Given the description of an element on the screen output the (x, y) to click on. 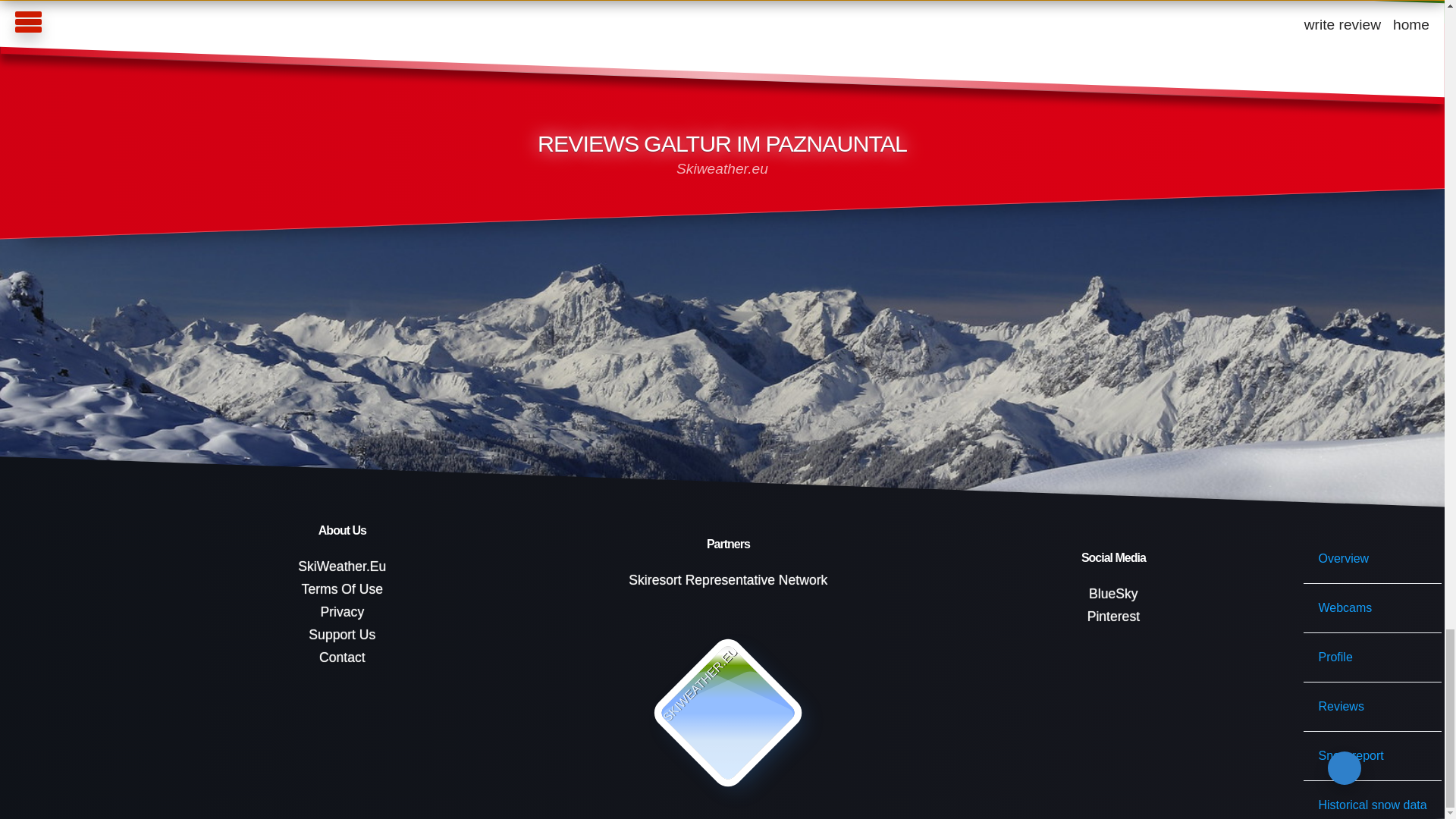
reviews Gargellen (486, 87)
reviews Scuol (176, 87)
About SkiWeather.eu (341, 566)
Terms of use SkiWeather.eu (341, 589)
reviews Kappl im Paznauntal (324, 87)
Snow alerts and ski reports via BlueSky (1113, 593)
Buy us a coffee! (341, 635)
Privacy statement of SkiWeather.eu (341, 612)
Skiresort Representative Network snowreporting (728, 580)
Contact SkiWeather.eu (341, 657)
